Given the description of an element on the screen output the (x, y) to click on. 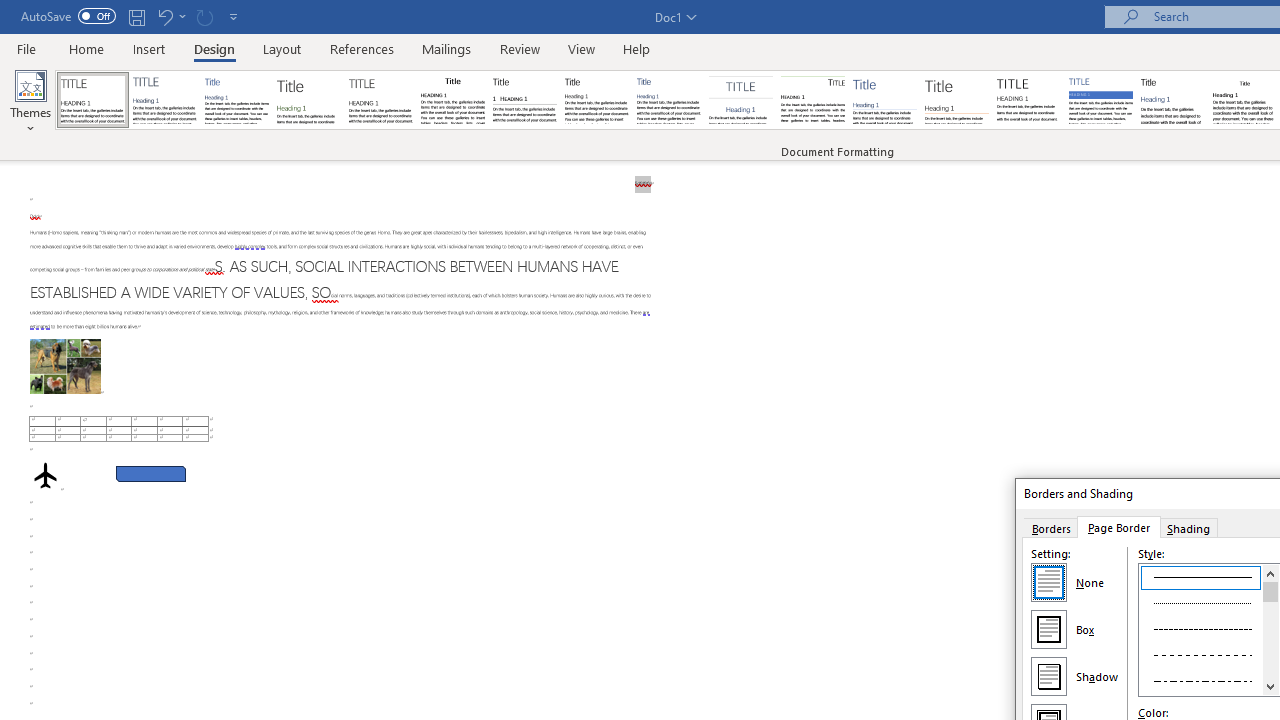
Casual (669, 100)
Black & White (Capitalized) (381, 100)
Rectangle: Diagonal Corners Snipped 2 (150, 473)
Line up (1270, 573)
Page Border (1118, 527)
Airplane with solid fill (45, 475)
Undo Paragraph Alignment (170, 15)
Shading (1188, 527)
Centered (740, 100)
Basic (Stylish) (308, 100)
